Given the description of an element on the screen output the (x, y) to click on. 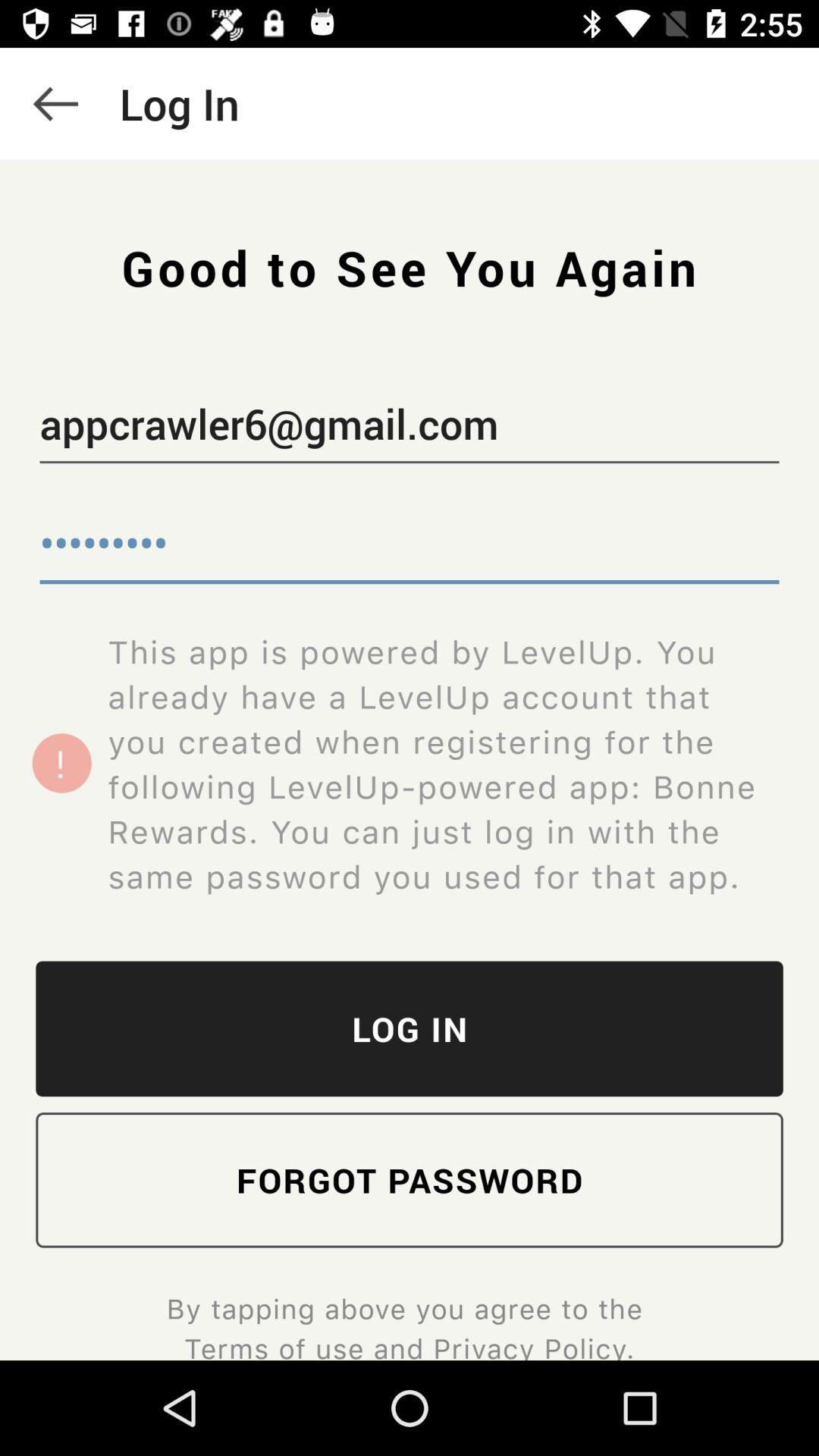
turn on the appcrawler6@gmail.com (409, 426)
